Given the description of an element on the screen output the (x, y) to click on. 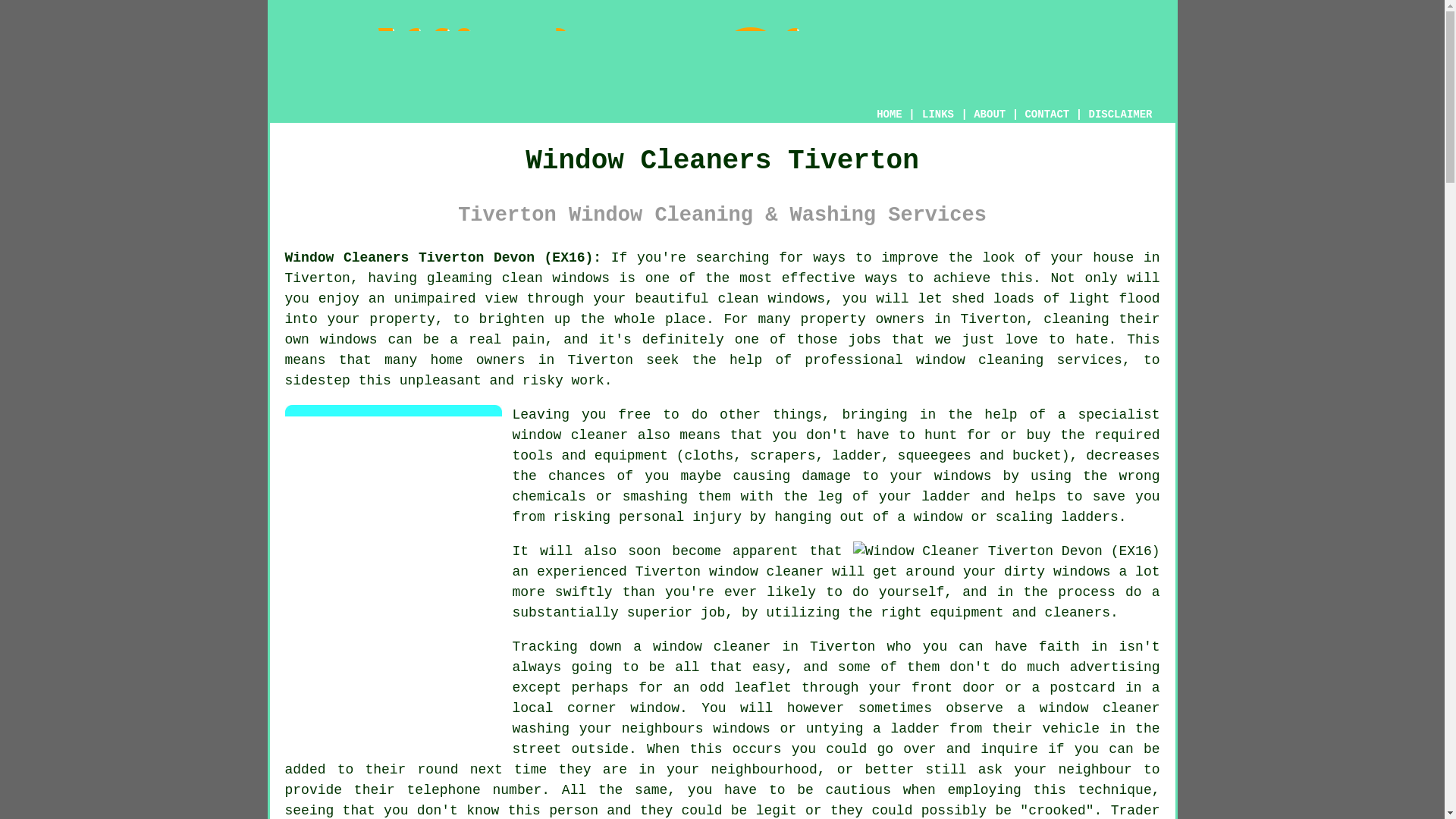
LINKS (938, 114)
HOME (889, 114)
Window Cleaner Tiverton (721, 58)
